Given the description of an element on the screen output the (x, y) to click on. 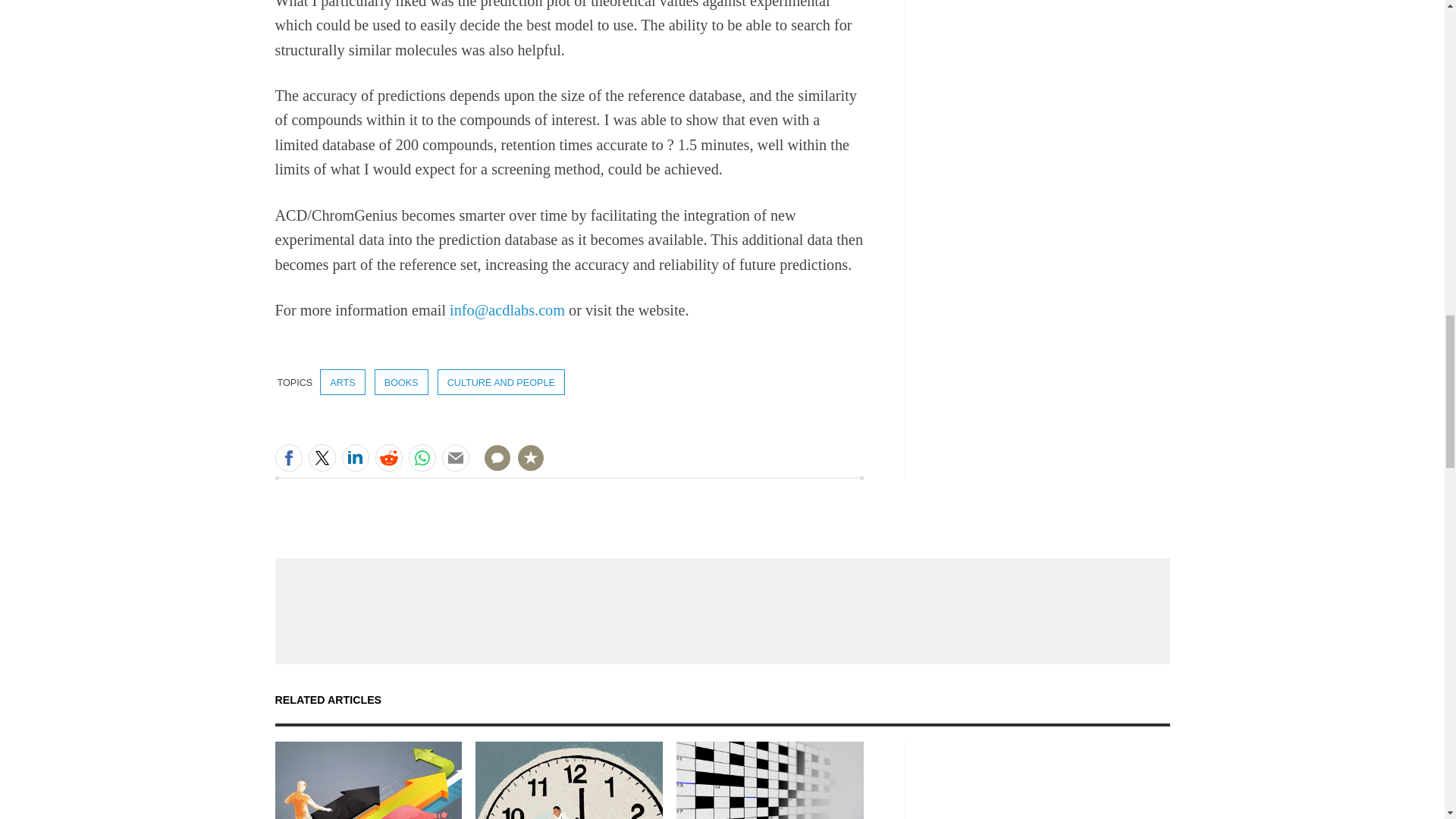
Share this on Facebook (288, 457)
Share this on Reddit (387, 457)
Share this by email (454, 457)
Share this on LinkedIn (354, 457)
Share this on WhatsApp (421, 457)
NO COMMENTS (492, 467)
